Given the description of an element on the screen output the (x, y) to click on. 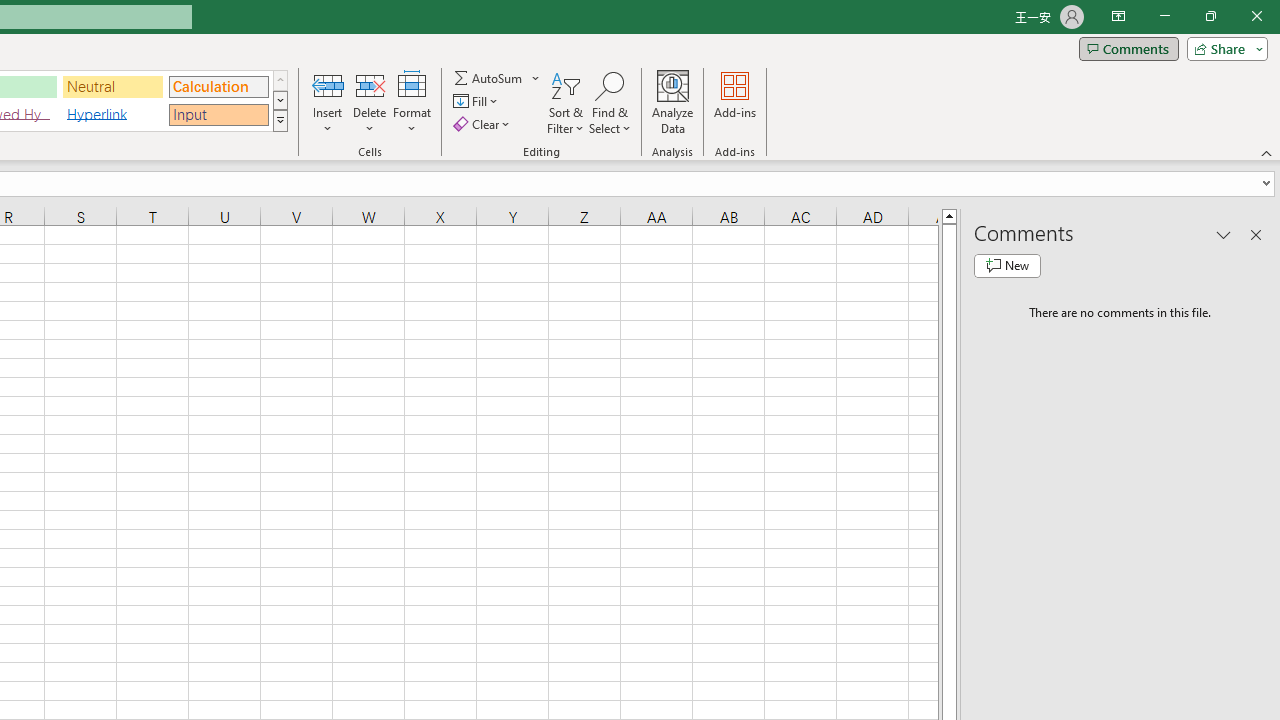
Sort & Filter (566, 102)
Input (218, 114)
Neutral (113, 86)
Insert Cells (328, 84)
Fill (477, 101)
Hyperlink (113, 114)
